Given the description of an element on the screen output the (x, y) to click on. 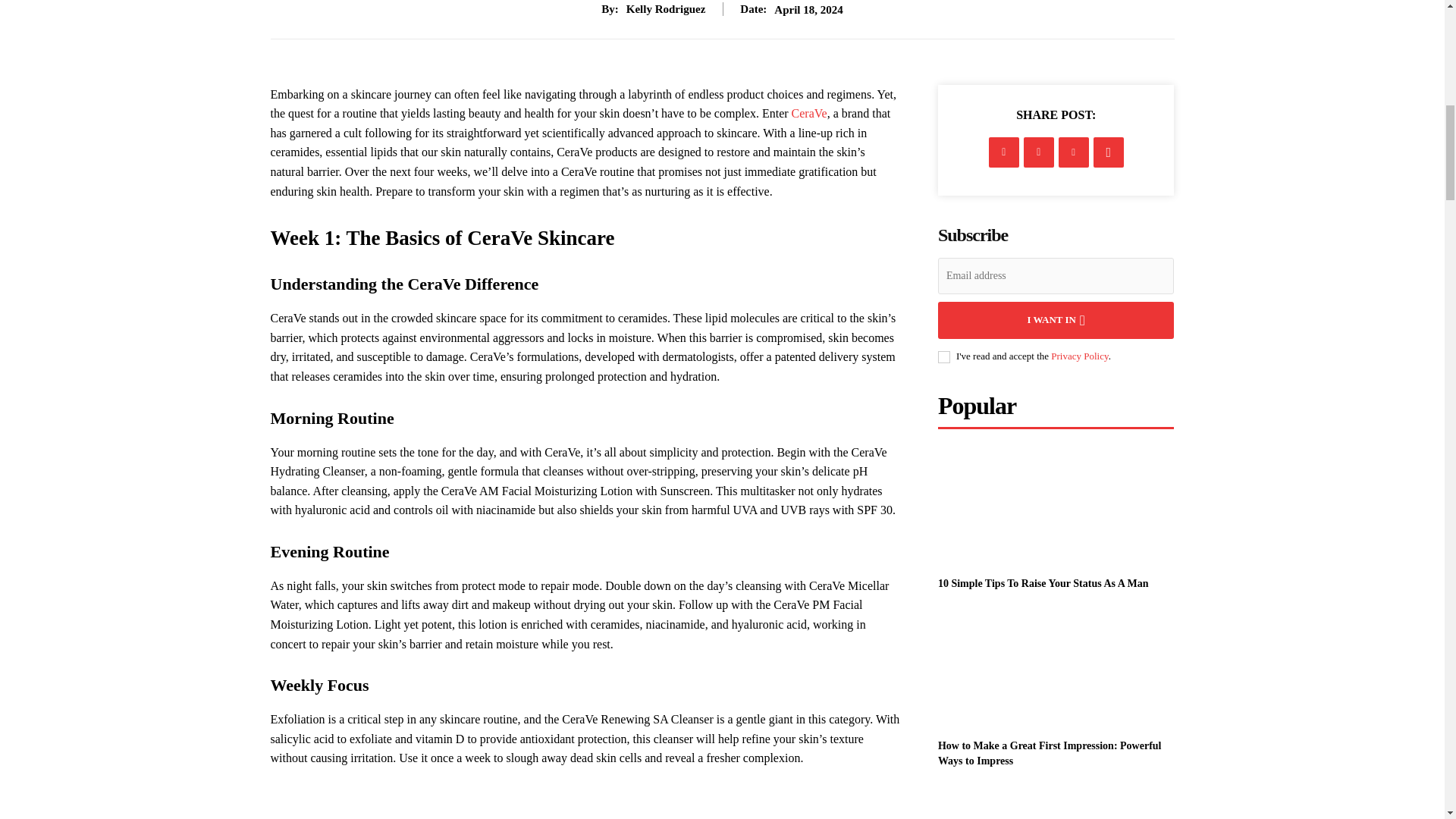
Pinterest (1073, 152)
WhatsApp (1108, 152)
Facebook (1003, 152)
Twitter (1038, 152)
